Given the description of an element on the screen output the (x, y) to click on. 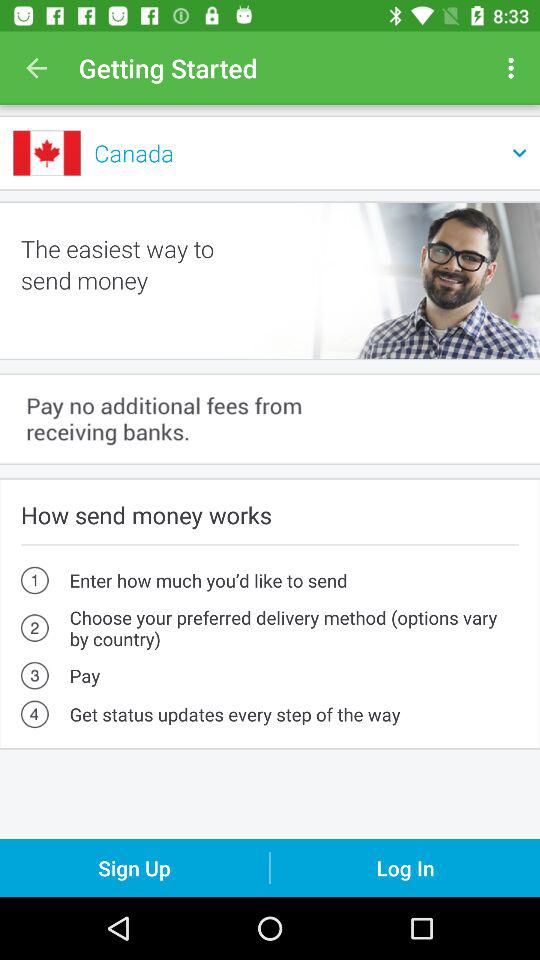
choose the log in icon (405, 867)
